Given the description of an element on the screen output the (x, y) to click on. 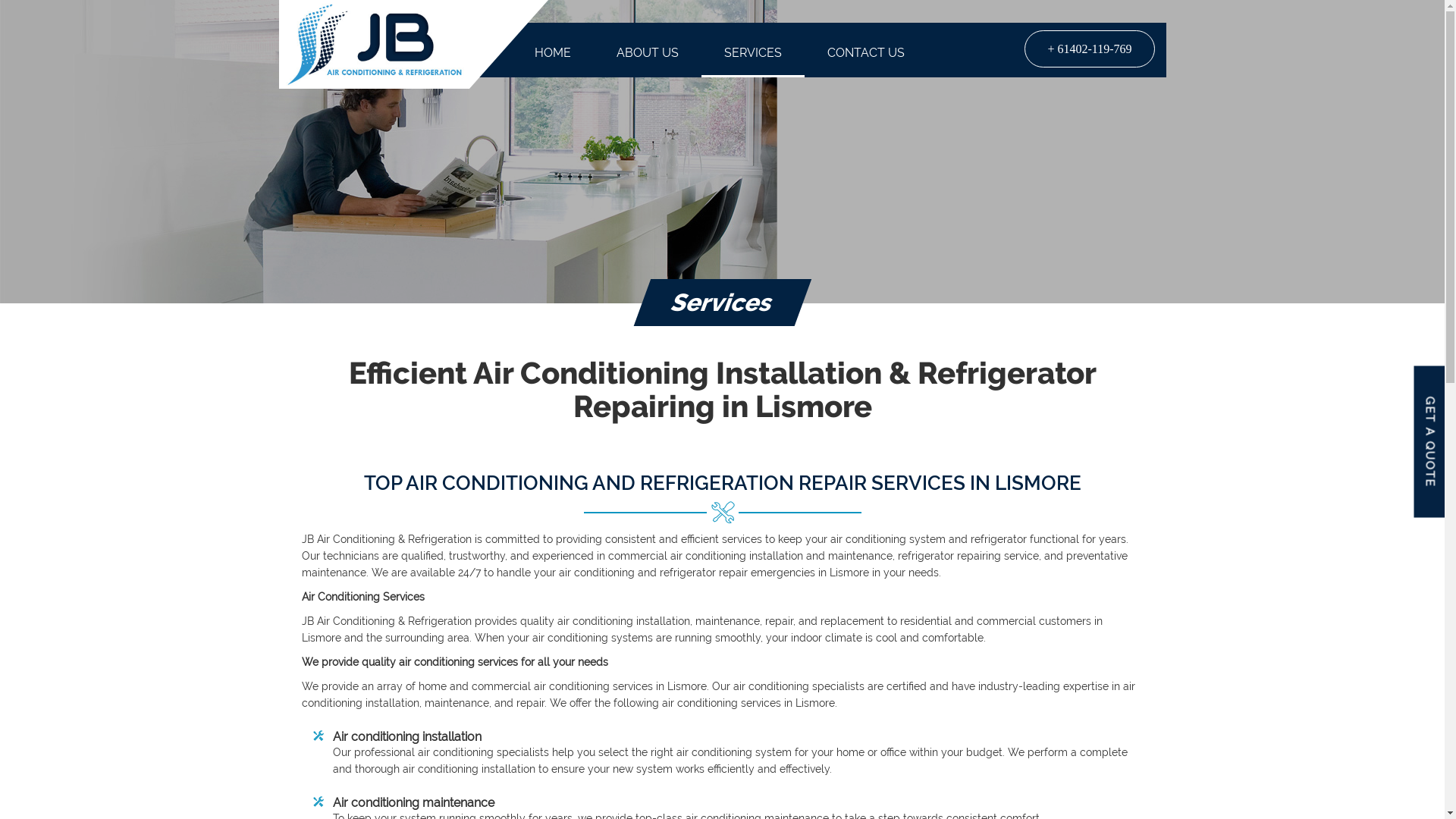
+ 61402-119-769 Element type: text (1089, 48)
SERVICES Element type: text (752, 53)
CONTACT US Element type: text (865, 53)
ABOUT US Element type: text (647, 53)
HOME Element type: text (552, 53)
